Given the description of an element on the screen output the (x, y) to click on. 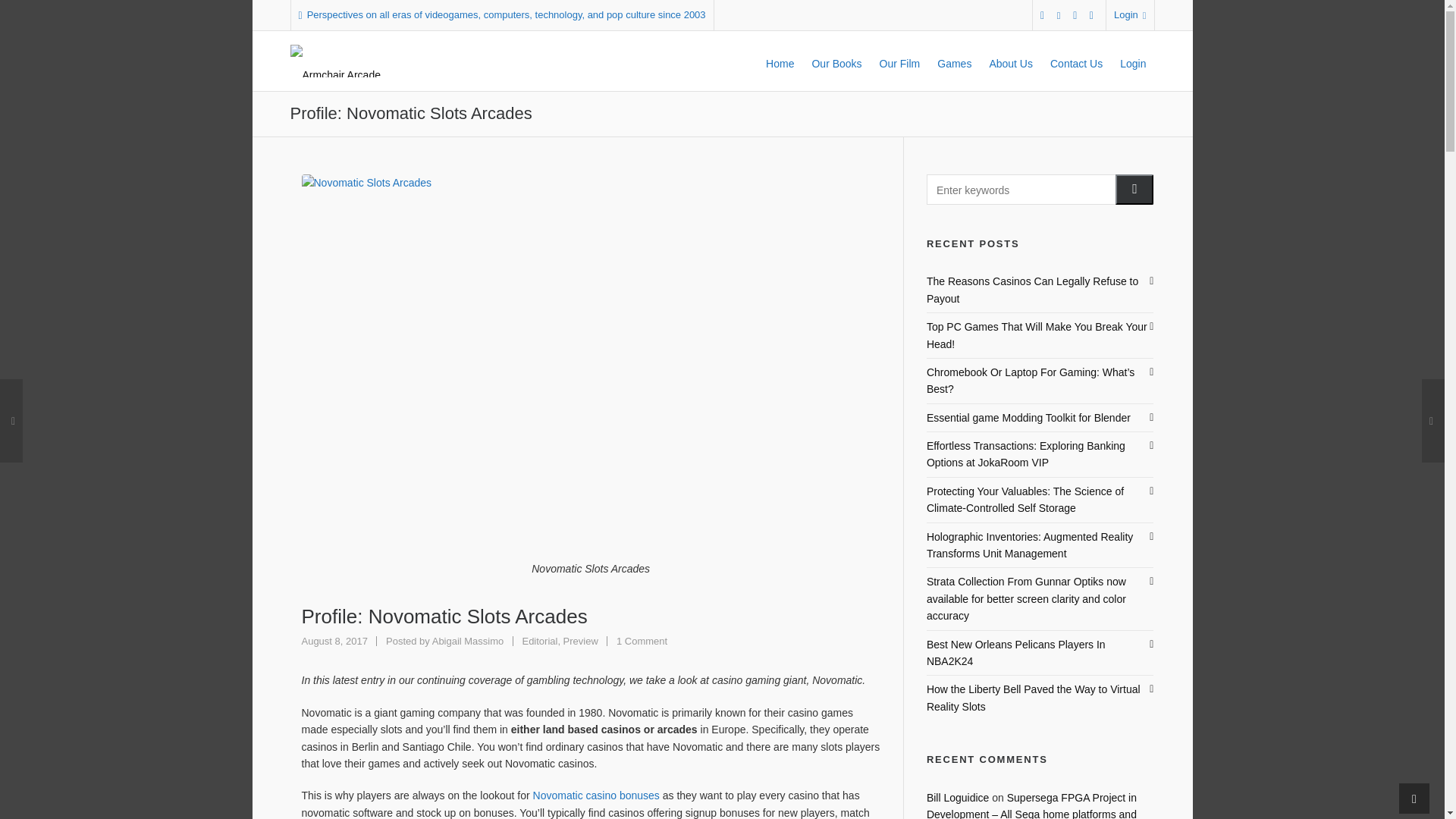
Contact Us (1076, 61)
Abigail Massimo (467, 641)
Novomatic casino bonuses (595, 795)
Our Film (899, 61)
1 Comment (640, 641)
Editorial (539, 641)
Preview (580, 641)
About Us (467, 641)
1 Comment (1010, 61)
Our Books (640, 641)
Login (836, 61)
